Given the description of an element on the screen output the (x, y) to click on. 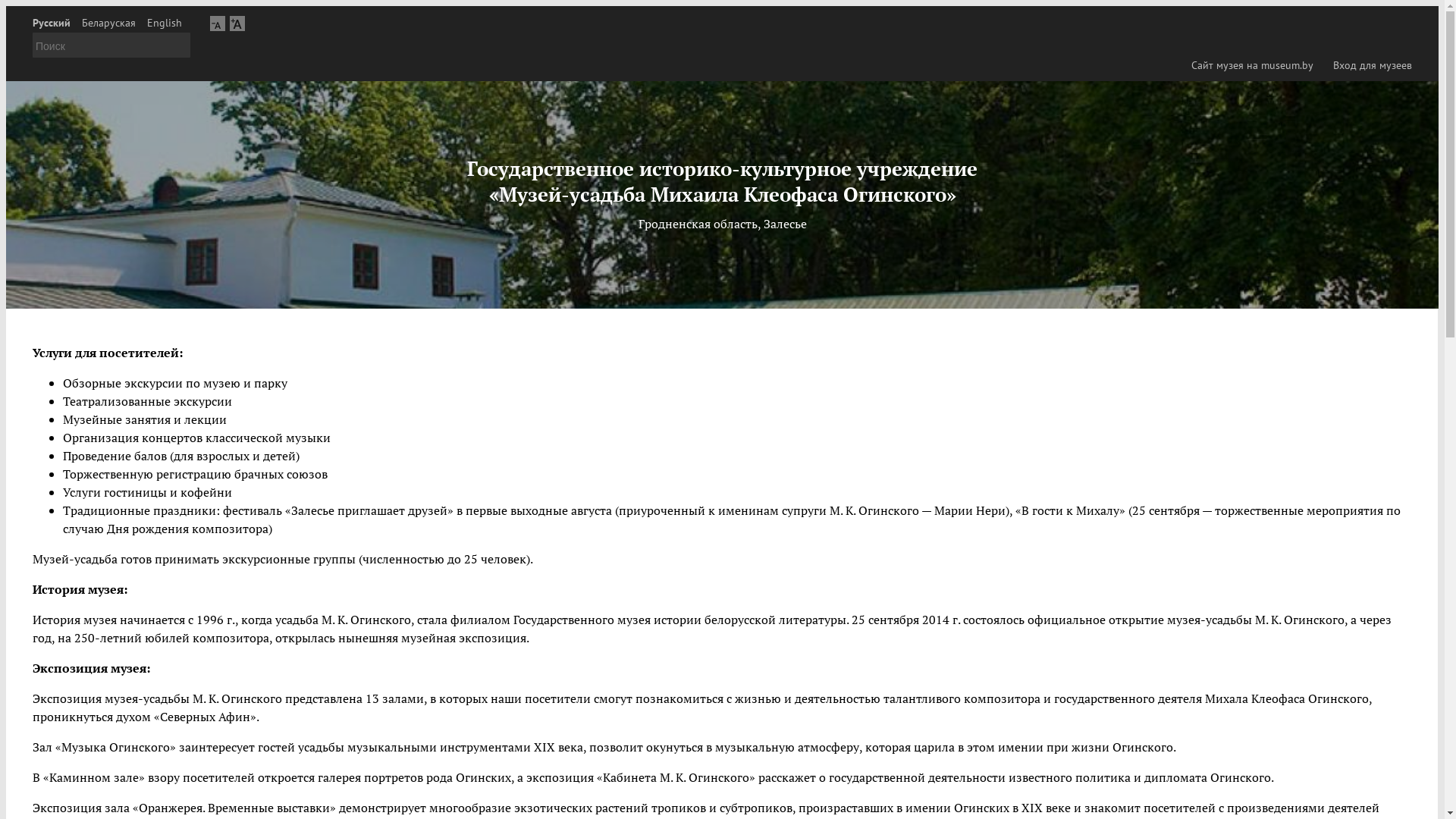
English Element type: text (164, 23)
A Element type: text (236, 22)
A Element type: text (217, 22)
